Given the description of an element on the screen output the (x, y) to click on. 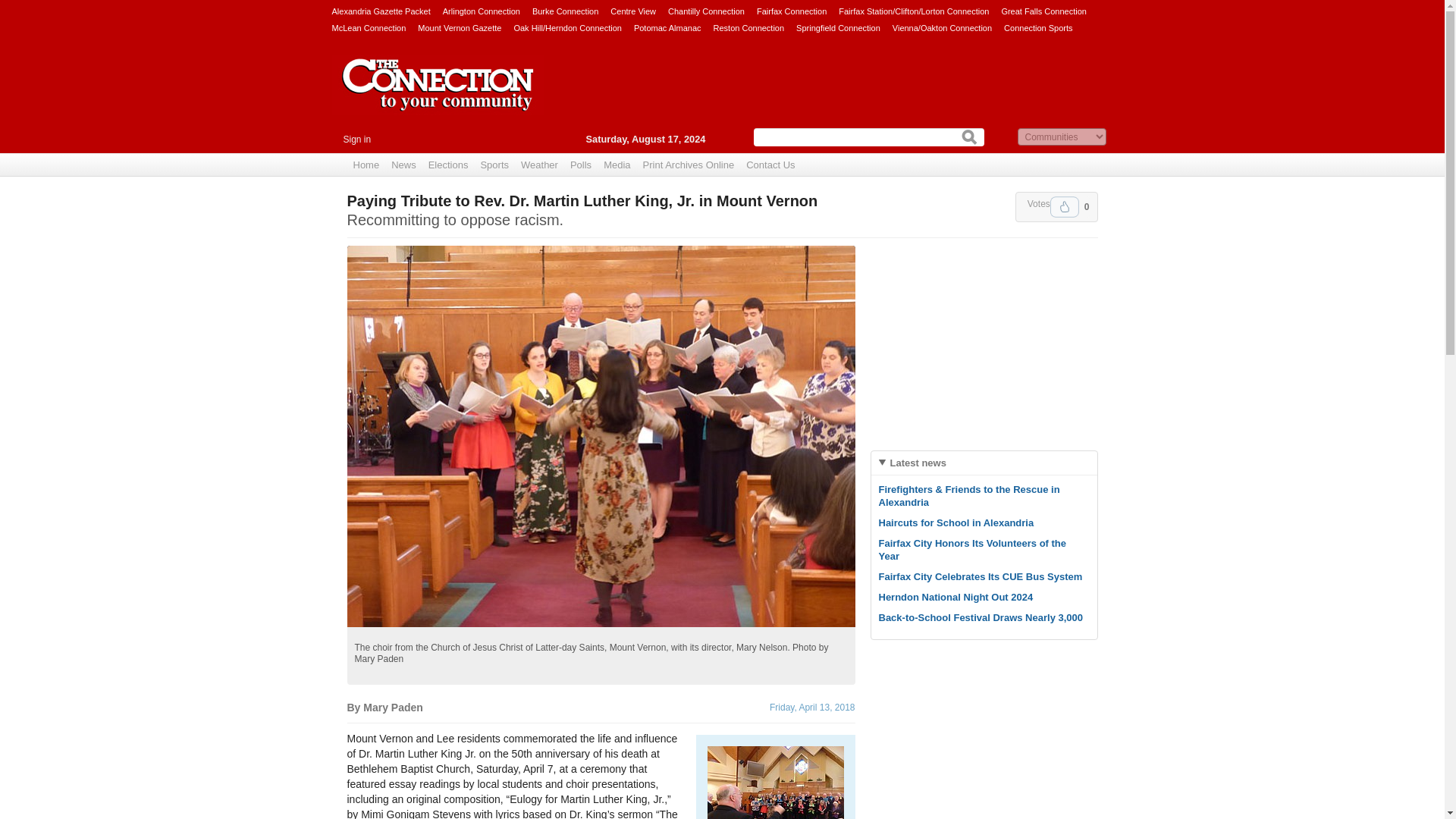
Springfield Connection (838, 27)
The Connection (437, 96)
Elections (448, 164)
Fairfax Connection (792, 11)
Centre View (633, 11)
Great Falls Connection (1043, 11)
Home (366, 164)
Reston Connection (748, 27)
Connection Sports (1038, 27)
Mount Vernon Gazette (458, 27)
